Given the description of an element on the screen output the (x, y) to click on. 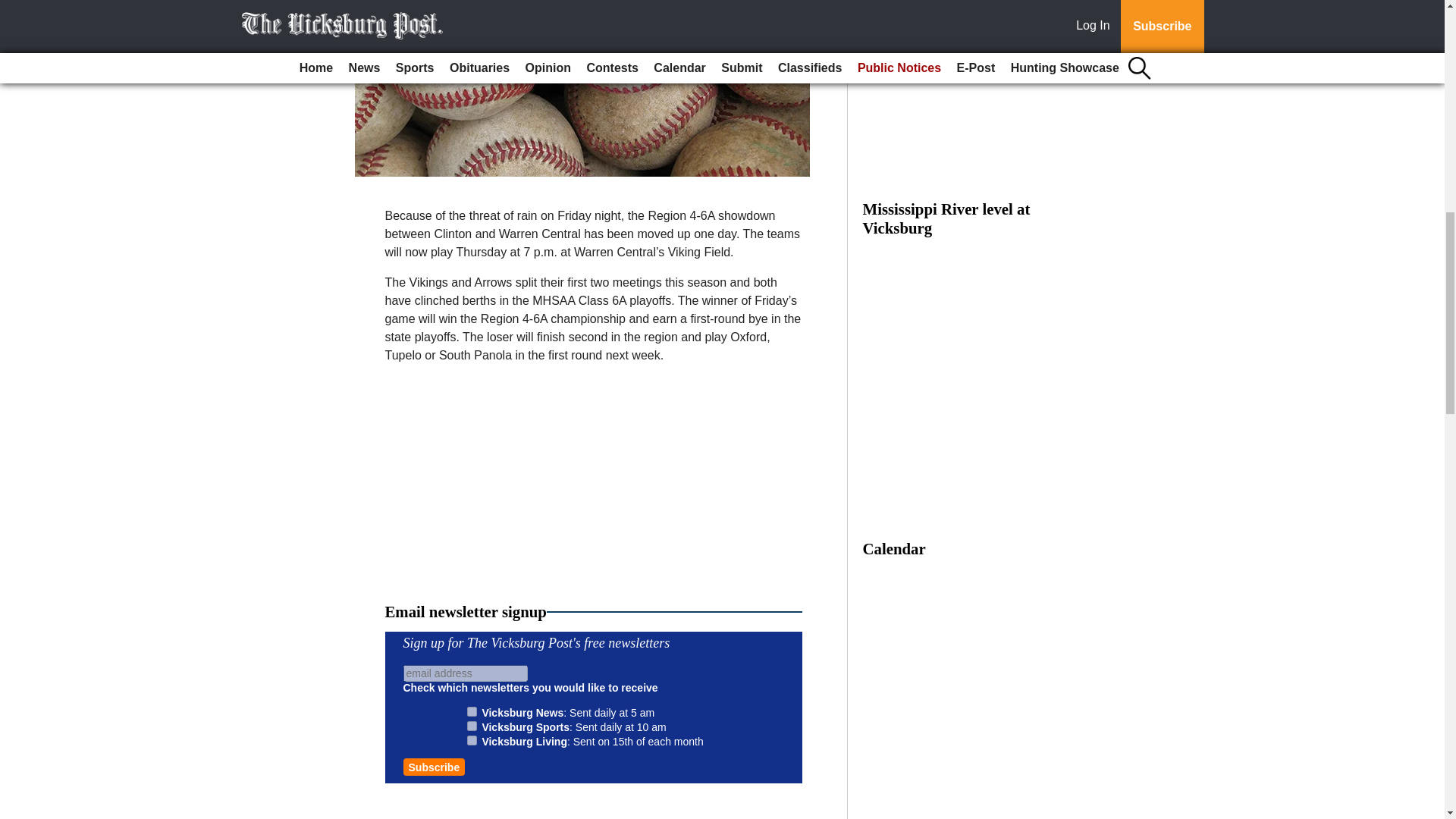
Subscribe (434, 766)
2 (472, 726)
Subscribe (434, 766)
1 (472, 711)
